Given the description of an element on the screen output the (x, y) to click on. 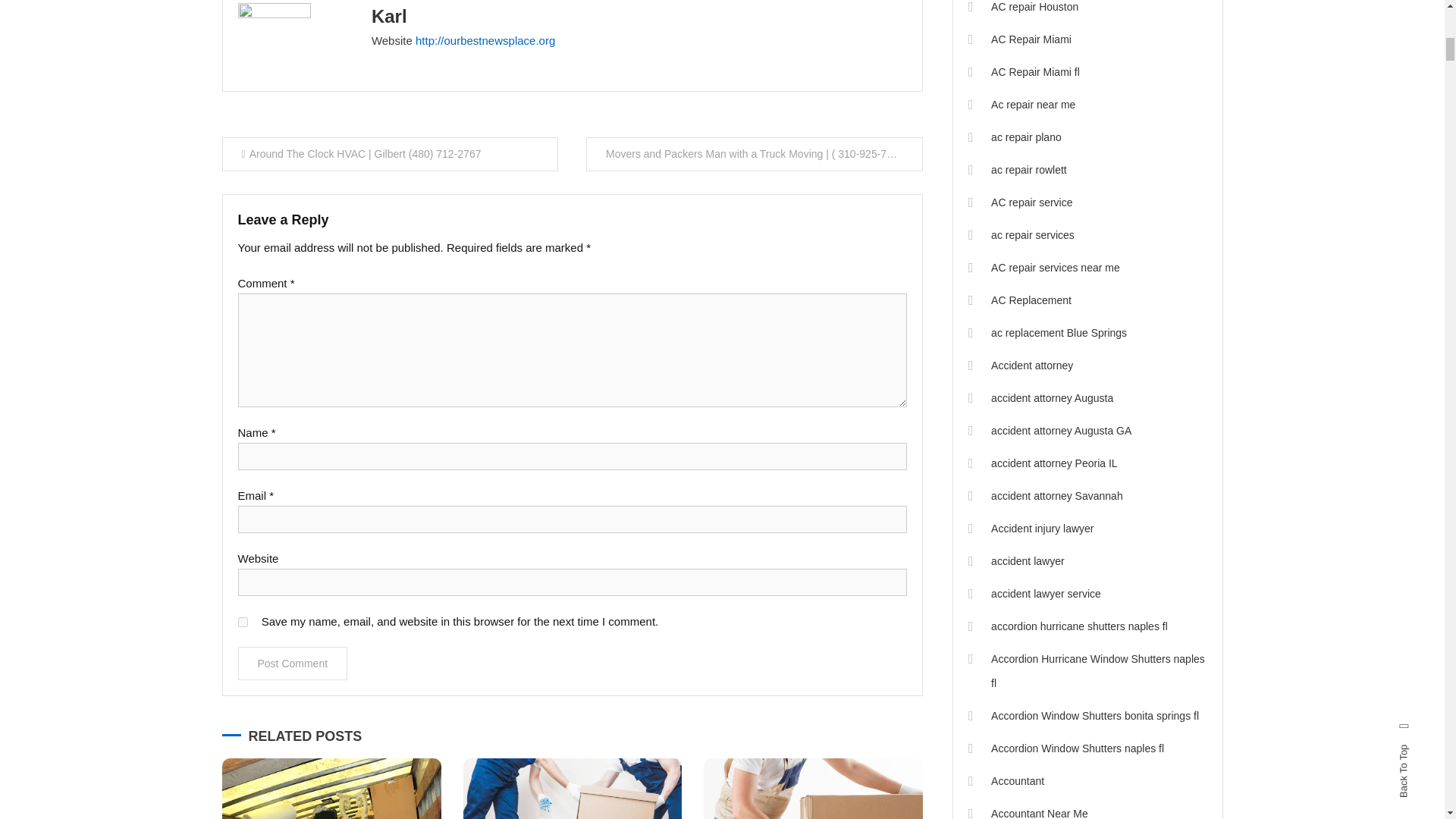
yes (242, 622)
Post Comment (292, 663)
Posts by Karl (389, 15)
